Given the description of an element on the screen output the (x, y) to click on. 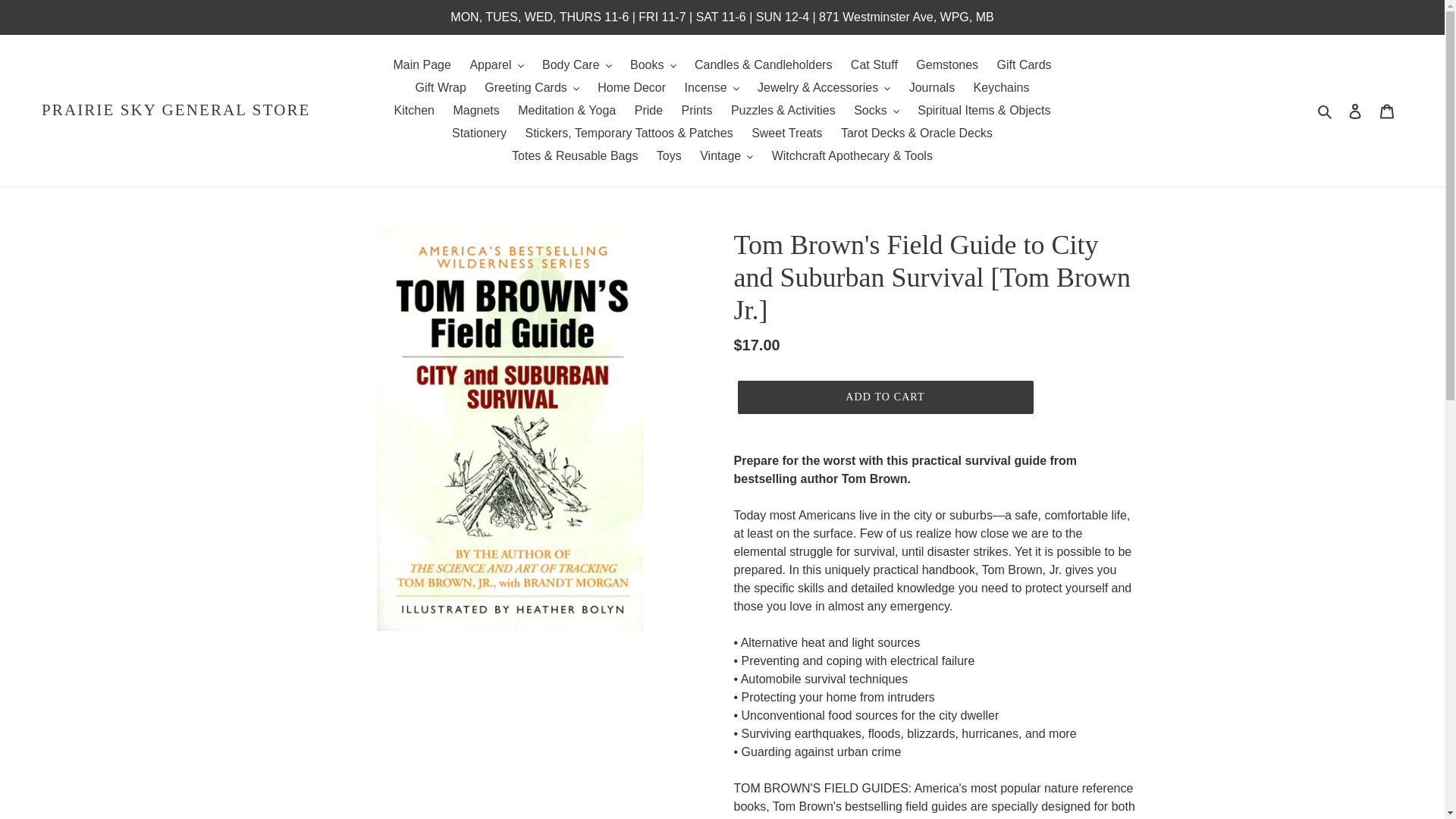
Body Care (577, 65)
Main Page (421, 65)
Apparel (496, 65)
PRAIRIE SKY GENERAL STORE (176, 109)
Books (652, 65)
